Given the description of an element on the screen output the (x, y) to click on. 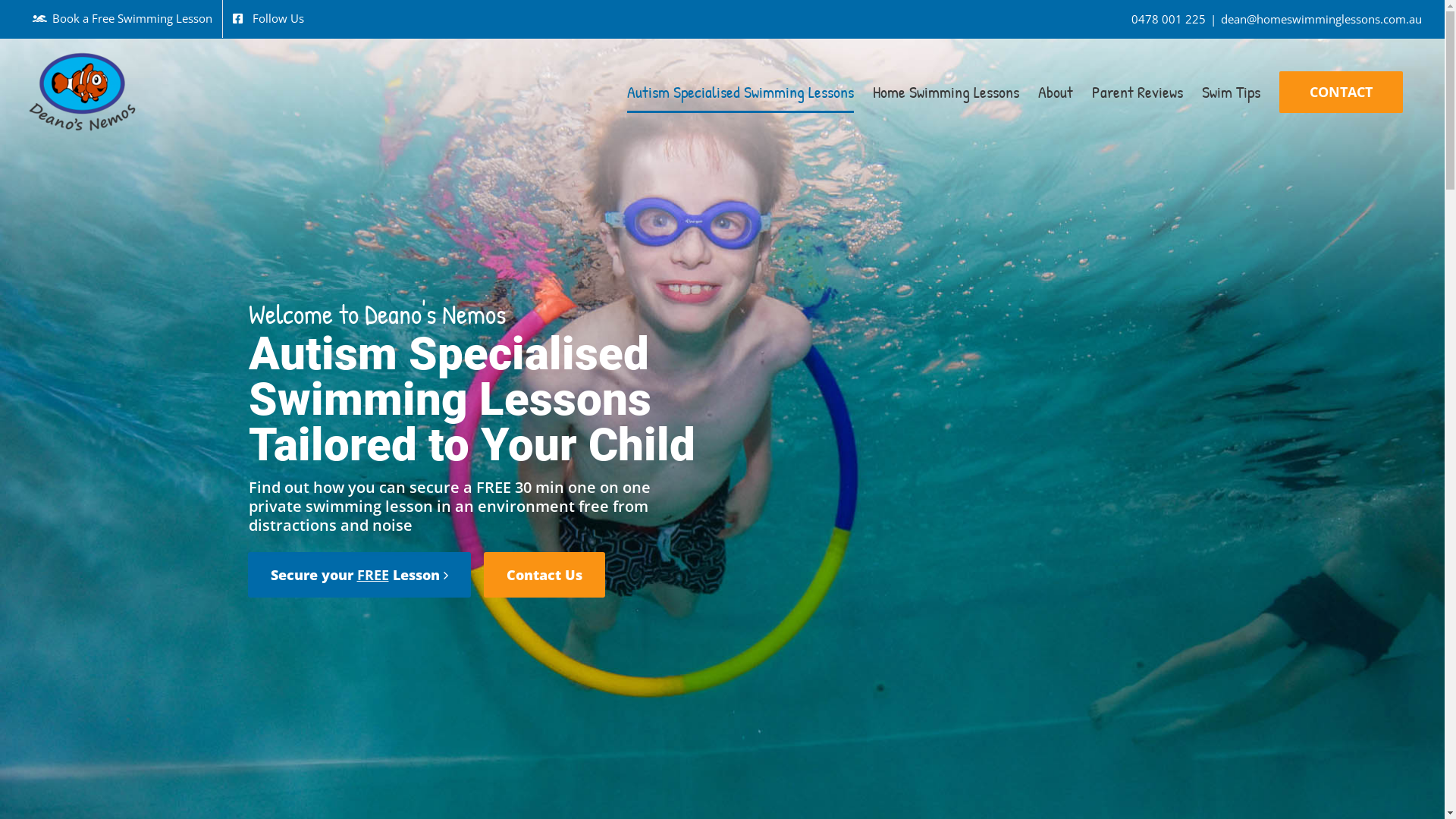
Swim Tips Element type: text (1230, 91)
About Element type: text (1055, 91)
Contact Us Element type: text (544, 574)
Secure your FREE Lesson Element type: text (358, 574)
dean@homeswimminglessons.com.au Element type: text (1320, 18)
Home Swimming Lessons Element type: text (945, 91)
Autism Specialised Swimming Lessons Element type: text (740, 91)
Parent Reviews Element type: text (1137, 91)
Follow Us Element type: text (267, 18)
CONTACT Element type: text (1340, 91)
Book a Free Swimming Lesson Element type: text (122, 18)
